Given the description of an element on the screen output the (x, y) to click on. 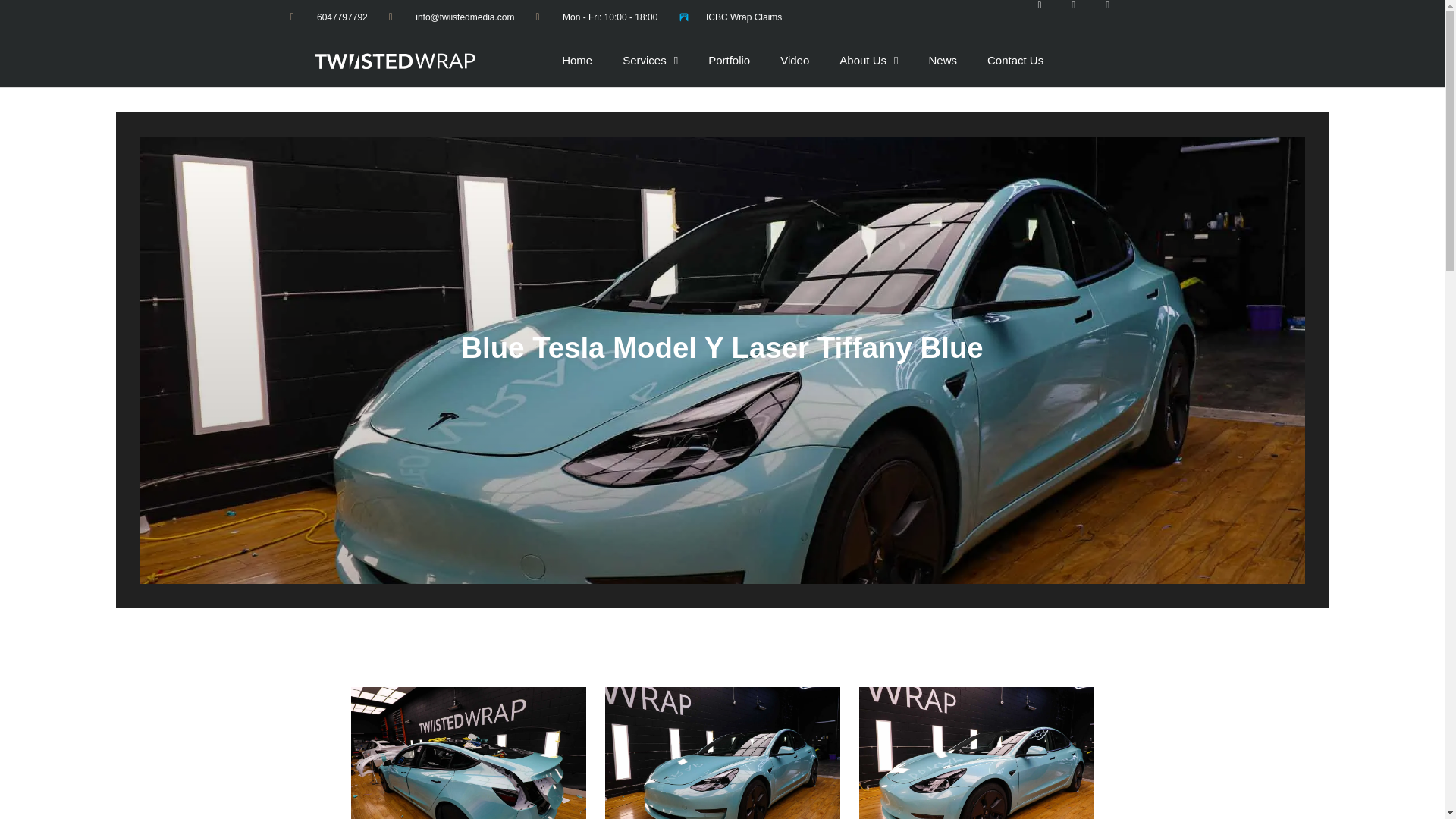
Services (650, 60)
ICBC Wrap Claims (729, 17)
Contact Us (1015, 60)
Home (577, 60)
Video (794, 60)
About Us (868, 60)
News (942, 60)
Portfolio (729, 60)
